Given the description of an element on the screen output the (x, y) to click on. 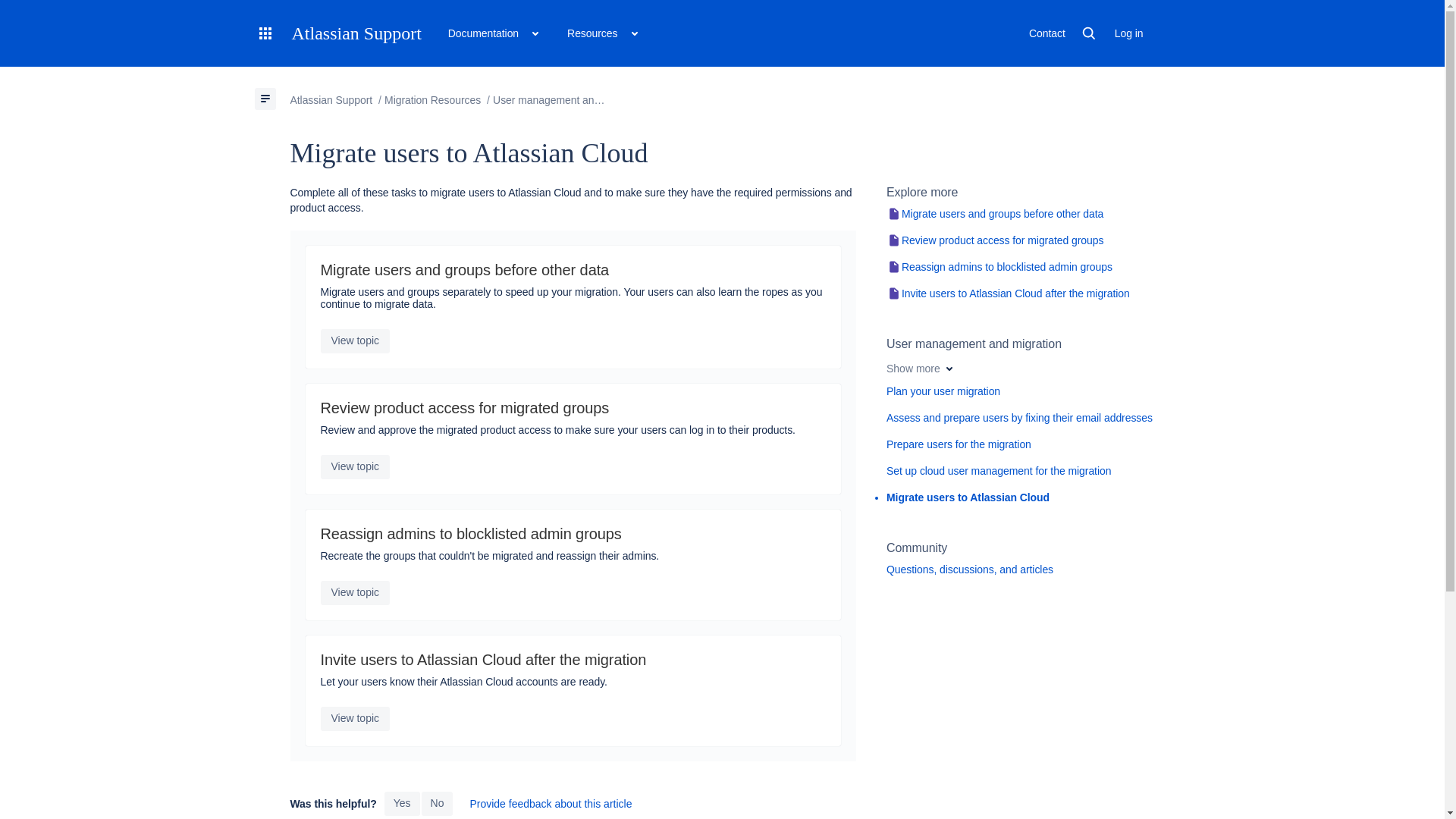
Atlassian Support (355, 33)
Contact (1047, 33)
Log in (1128, 33)
